Given the description of an element on the screen output the (x, y) to click on. 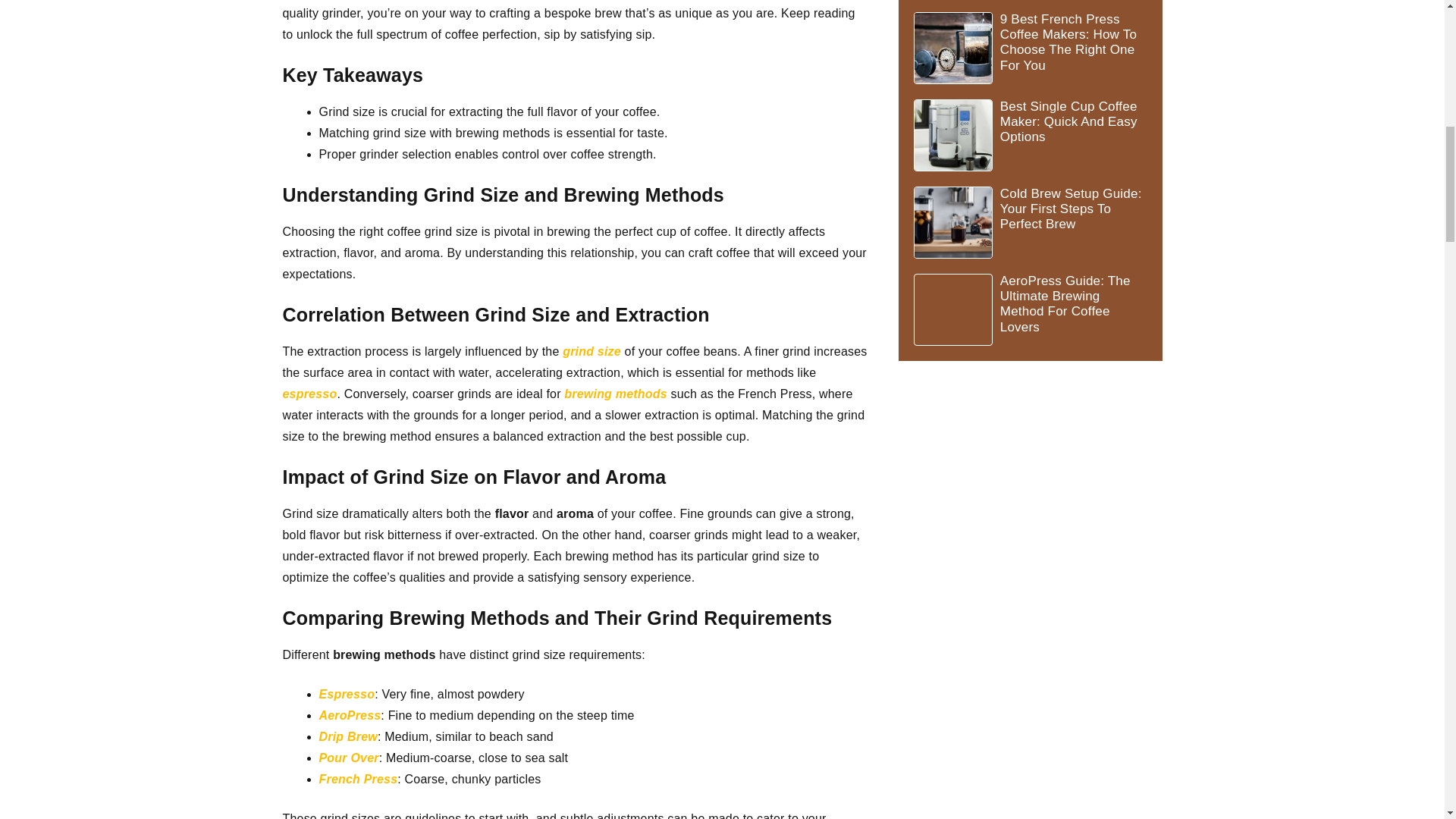
grind size (591, 350)
French Press (357, 779)
brewing methods (615, 393)
AeroPress (349, 715)
Espresso (346, 694)
espresso (309, 393)
Pour Over (348, 757)
Drip Brew (347, 736)
